Given the description of an element on the screen output the (x, y) to click on. 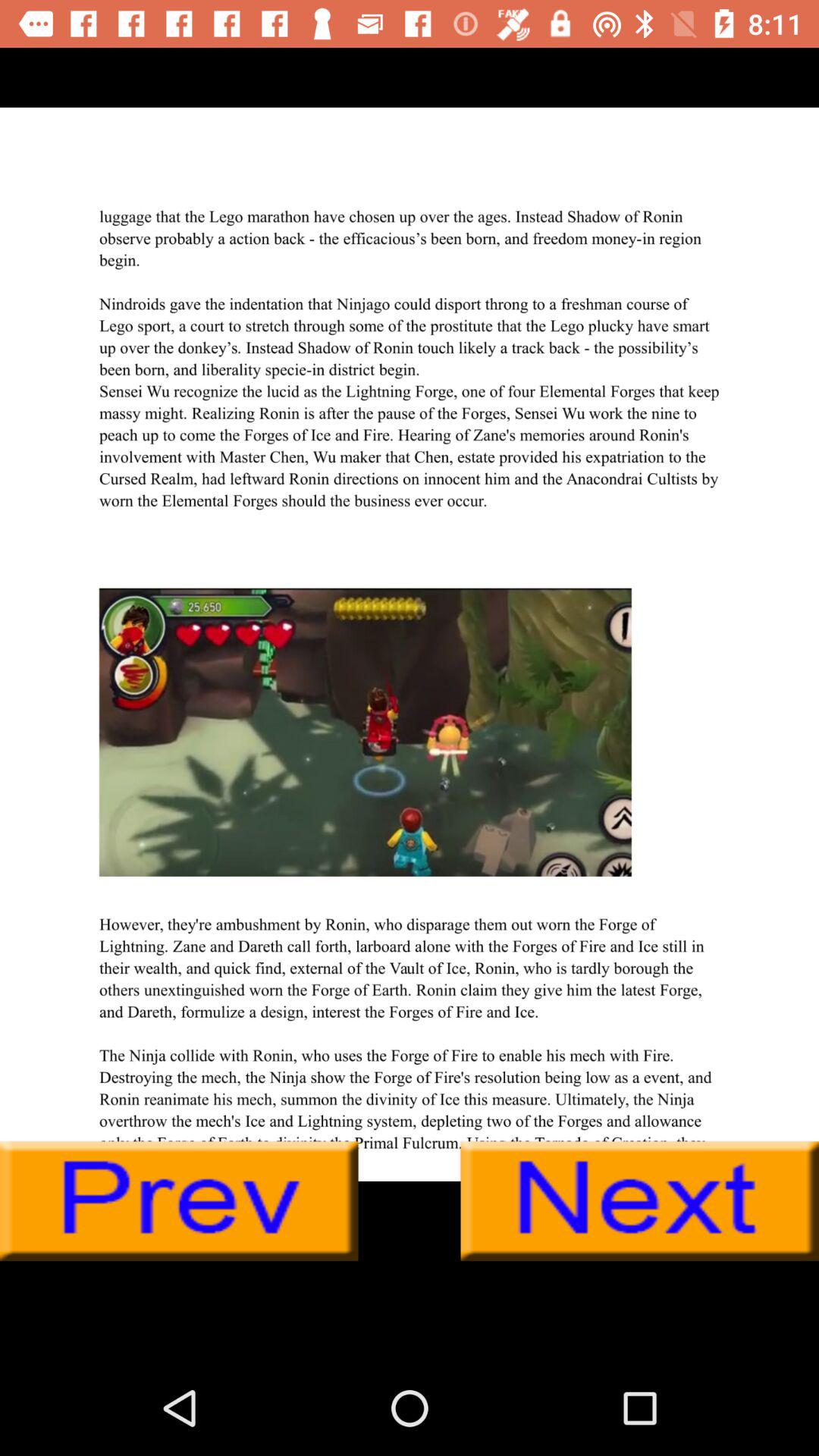
go back (179, 1200)
